Given the description of an element on the screen output the (x, y) to click on. 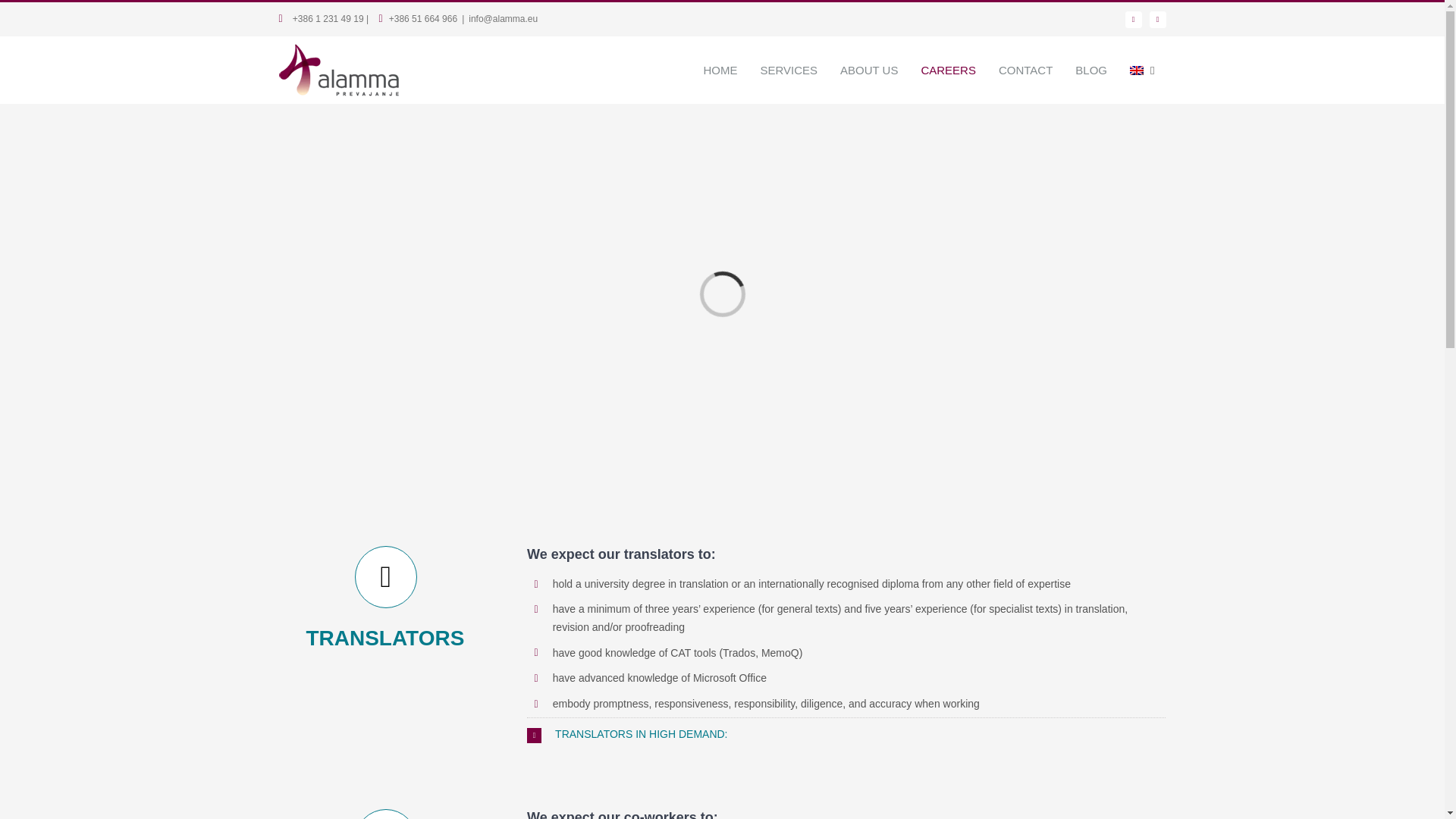
CAREERS (947, 70)
Facebook (1133, 19)
LinkedIn (1158, 19)
CONTACT (1025, 70)
SERVICES (788, 70)
Facebook (1133, 19)
ABOUT US (868, 70)
TRANSLATORS IN HIGH DEMAND: (846, 734)
LinkedIn (1158, 19)
